Given the description of an element on the screen output the (x, y) to click on. 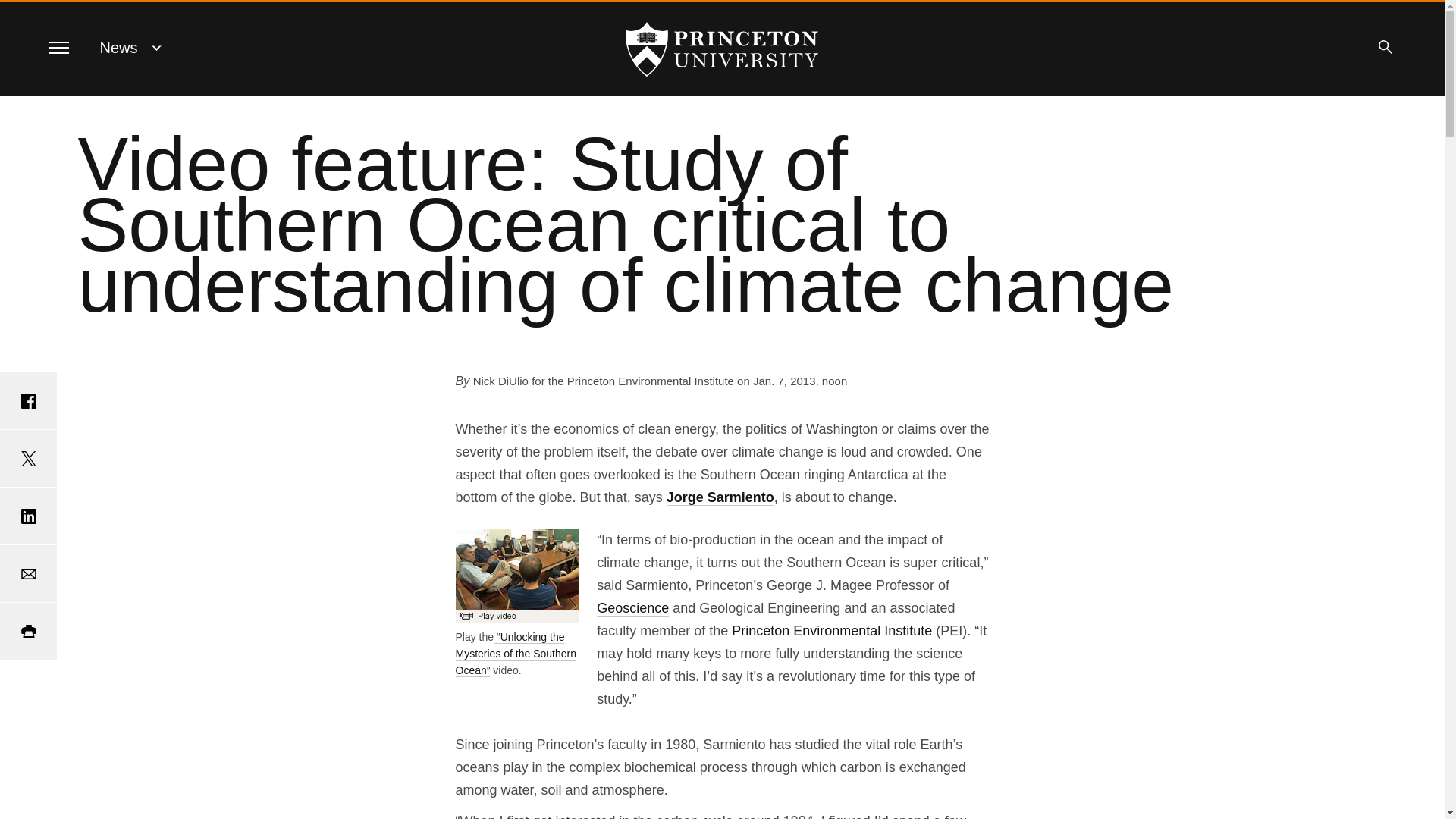
Search (1384, 47)
Print (28, 631)
Home (722, 49)
Share on LinkedIn (28, 515)
Share on Facebook (28, 400)
Menu (57, 47)
News (119, 47)
Share on Twitter (28, 457)
Geoscience (632, 608)
Princeton University (722, 49)
SKIP TO MAIN CONTENT (22, 13)
Jorge Sarmiento (720, 497)
Email (28, 573)
Princeton Environmental Institute (829, 631)
